Given the description of an element on the screen output the (x, y) to click on. 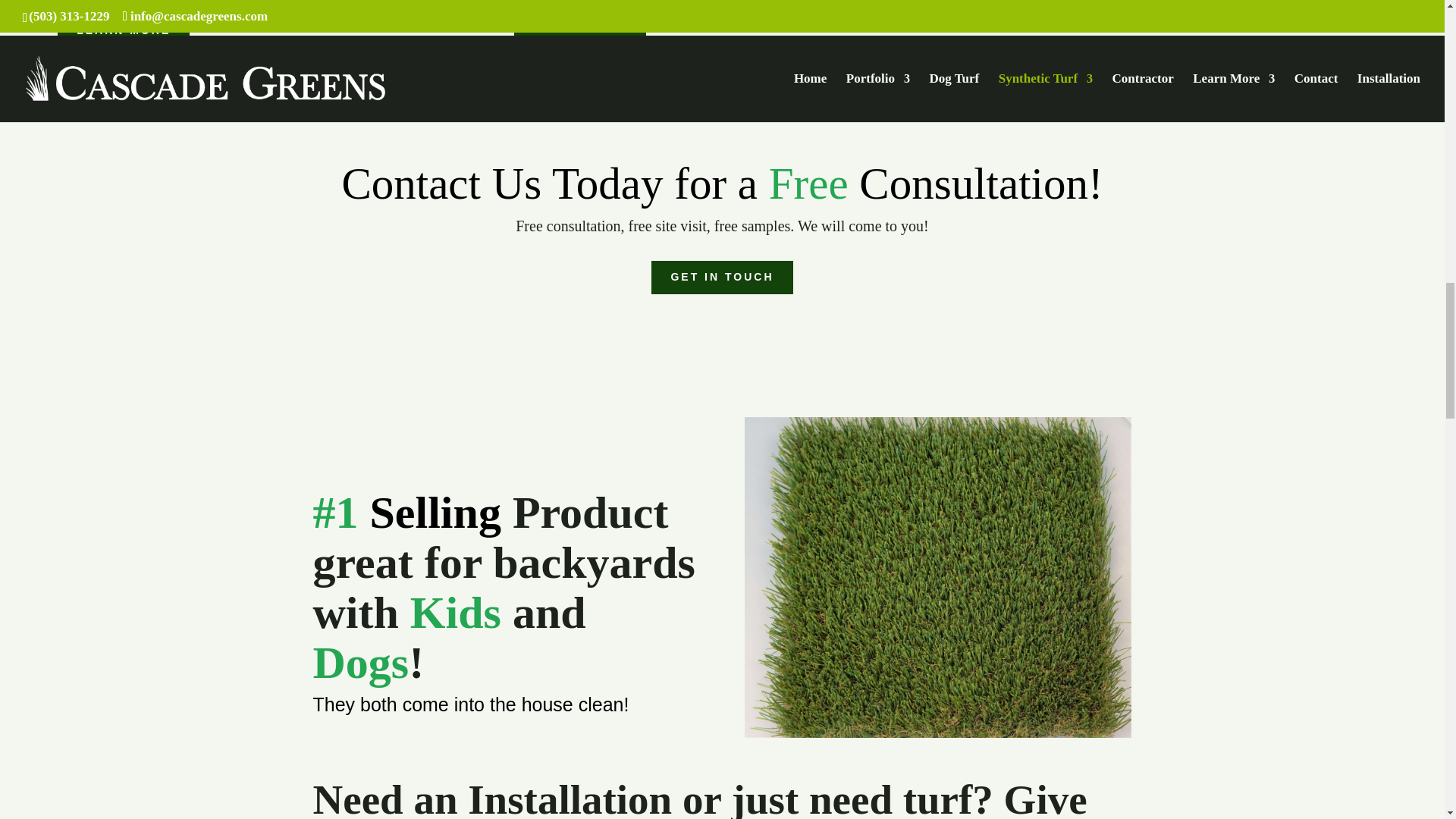
Mative 5 (937, 577)
